Given the description of an element on the screen output the (x, y) to click on. 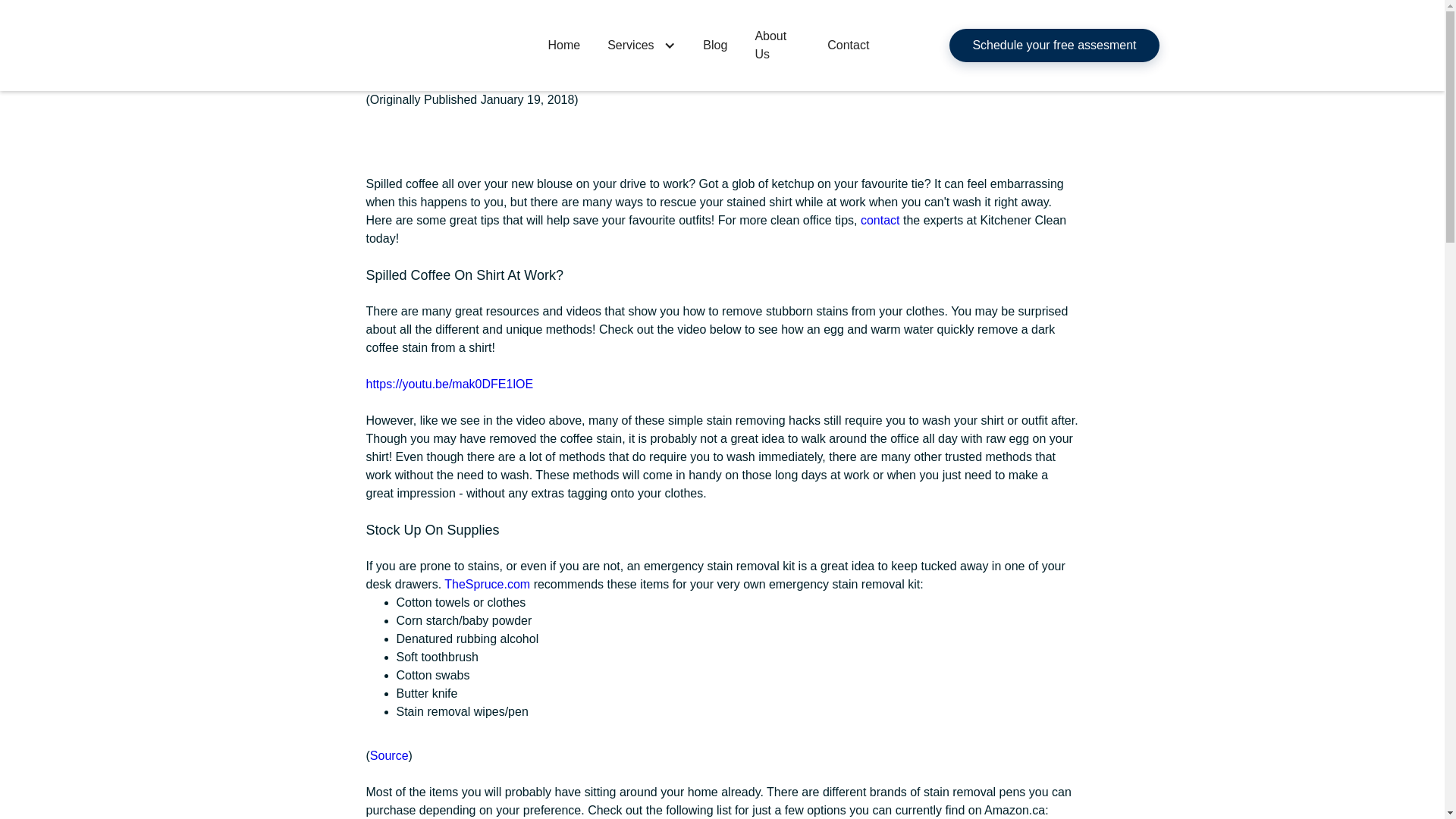
Schedule your free assesment (1053, 45)
About Us (777, 45)
Contact (847, 45)
contact (881, 219)
Home (564, 45)
TheSpruce.com (486, 584)
Source (389, 755)
